Given the description of an element on the screen output the (x, y) to click on. 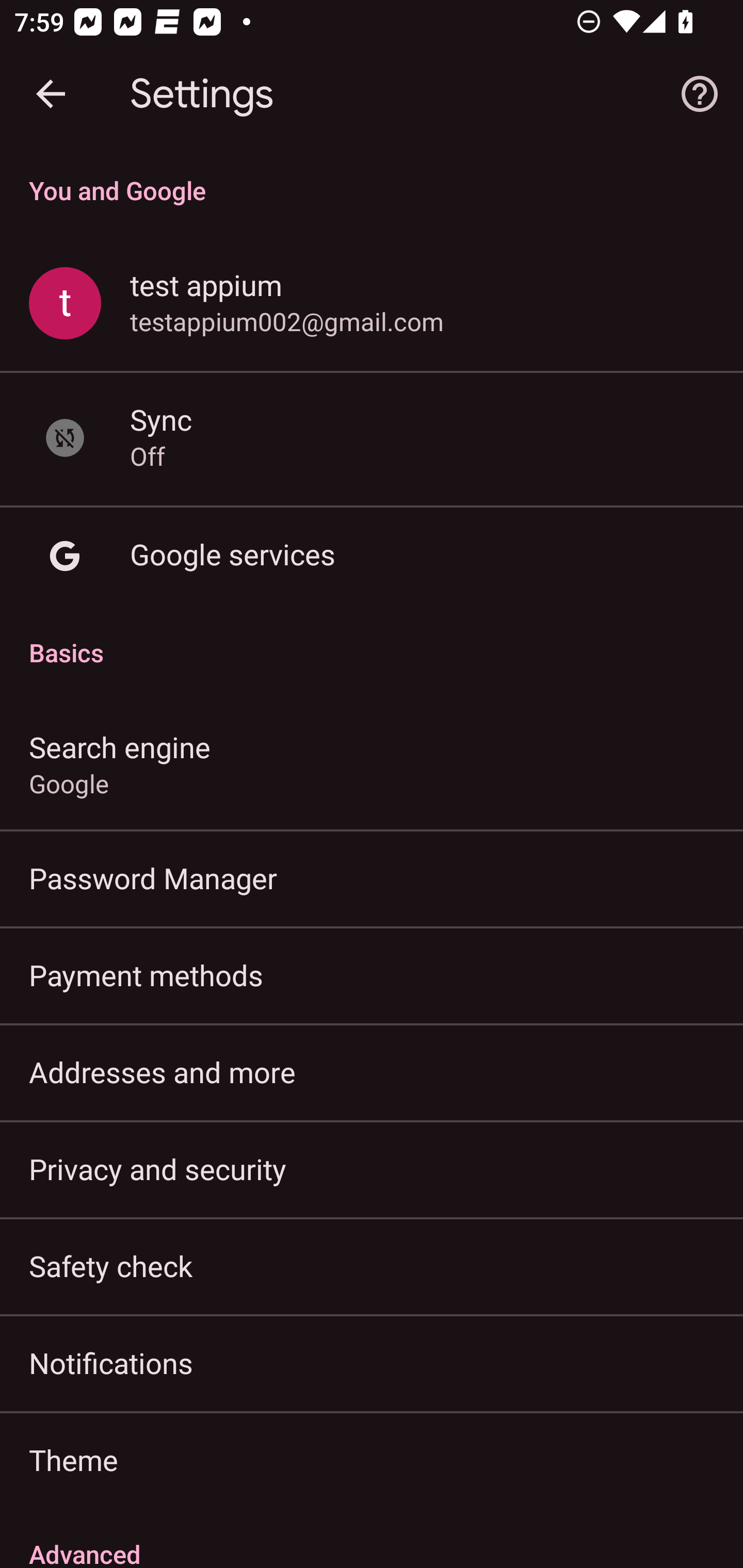
Navigate up (50, 93)
Help & feedback (699, 93)
test appium testappium002@gmail.com (371, 303)
Sync Off (371, 437)
Google services (371, 555)
Search engine Google (371, 763)
Password Manager (371, 877)
Payment methods (371, 974)
Addresses and more (371, 1071)
Privacy and security (371, 1167)
Safety check (371, 1264)
Notifications (371, 1362)
Theme (371, 1459)
